Given the description of an element on the screen output the (x, y) to click on. 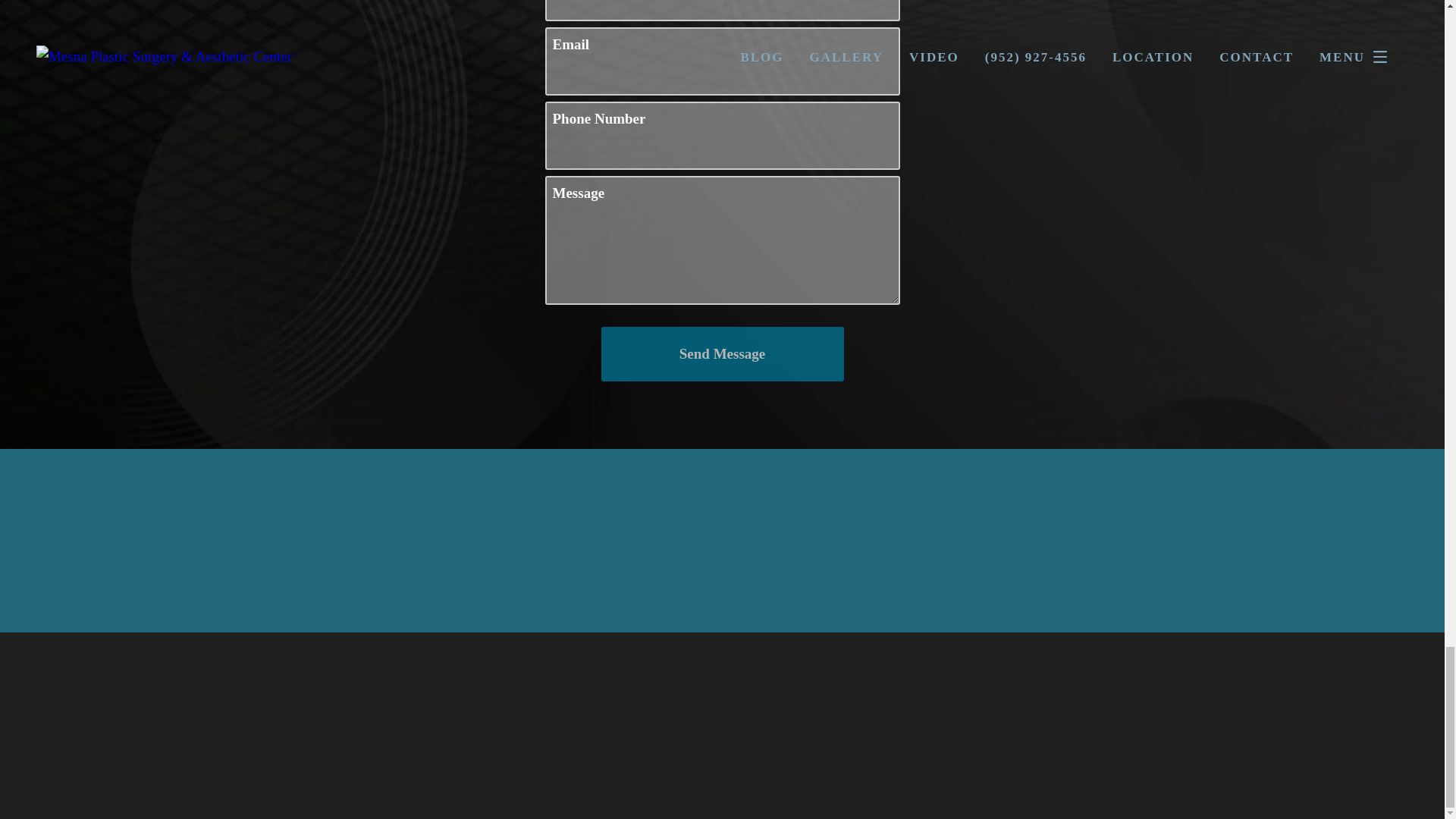
Send Message (721, 353)
